Given the description of an element on the screen output the (x, y) to click on. 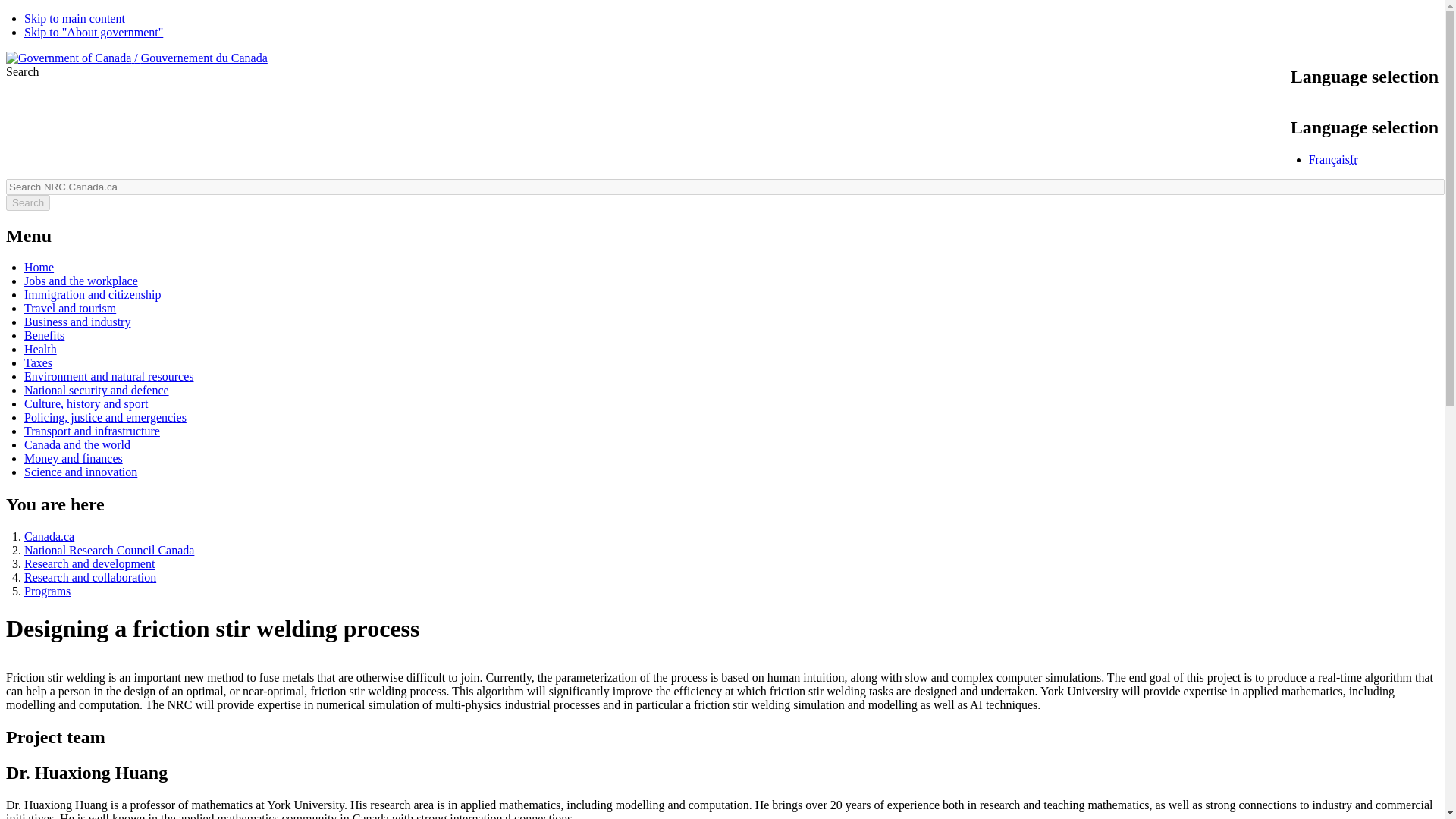
Programs (46, 590)
National Research Council Canada (108, 549)
Travel and tourism (70, 308)
Health (40, 349)
Transport and infrastructure (92, 431)
Policing, justice and emergencies (105, 417)
Taxes (38, 362)
Science and innovation (80, 472)
Business and industry (77, 321)
Research and development (89, 563)
